Given the description of an element on the screen output the (x, y) to click on. 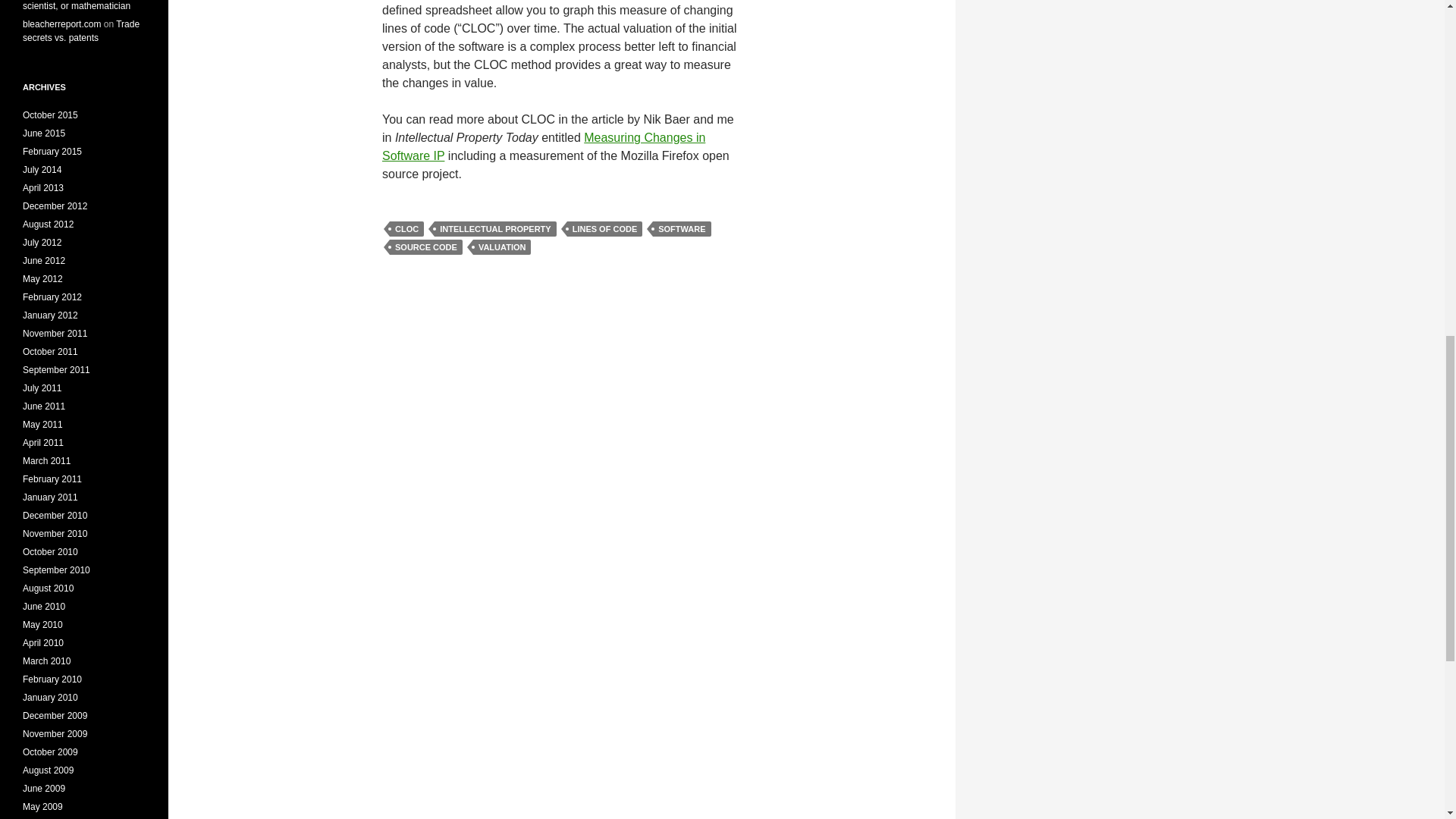
VALUATION (502, 246)
October 2015 (50, 114)
bleacherreport.com (61, 23)
June 2015 (44, 132)
CLOC (406, 228)
Trade secrets vs. patents (81, 30)
INTELLECTUAL PROPERTY (494, 228)
SOURCE CODE (426, 246)
April 2013 (43, 187)
LINES OF CODE (605, 228)
July 2014 (42, 169)
Measuring Changes in Software IP (542, 146)
February 2015 (52, 151)
SOFTWARE (681, 228)
